Given the description of an element on the screen output the (x, y) to click on. 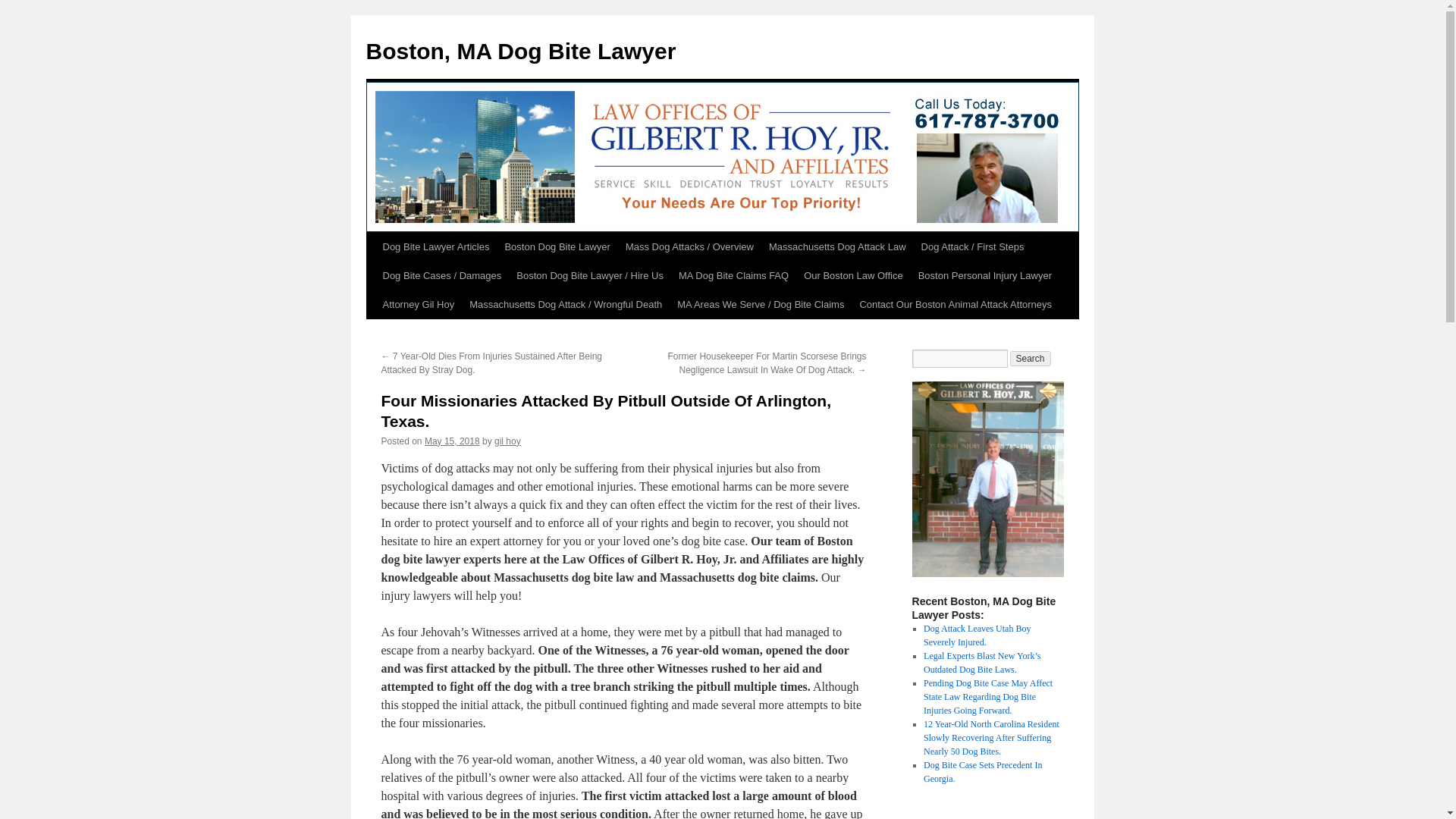
2:25 pm (452, 440)
MA Dog Bite Claims FAQ (733, 275)
May 15, 2018 (452, 440)
Our Boston Law Office (853, 275)
Attorney Gil Hoy (417, 304)
gil hoy (508, 440)
Contact Our Boston Animal Attack Attorneys (955, 304)
Boston, MA Dog Bite Lawyer (520, 50)
Dog Attack Leaves Utah Boy Severely Injured. (976, 635)
Search (1030, 358)
